Given the description of an element on the screen output the (x, y) to click on. 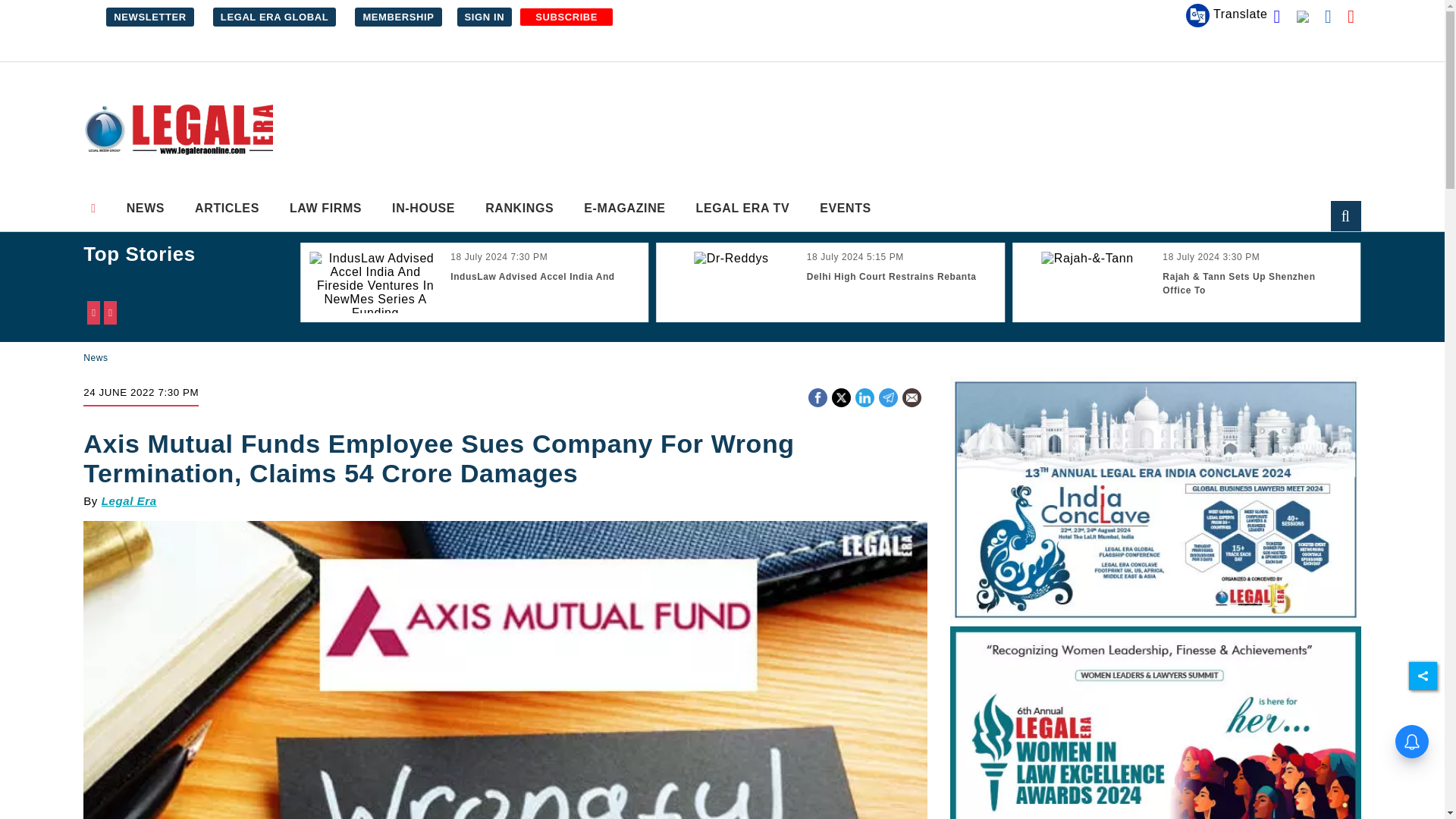
SIGN IN (484, 16)
Dr-Reddys (731, 258)
Translate (1227, 15)
NEWSLETTER (149, 16)
facebook (818, 397)
SUBSCRIBE (566, 16)
MEMBERSHIP (398, 16)
Legal Era (177, 130)
Facebook (817, 396)
LEGAL ERA GLOBAL (274, 16)
